Given the description of an element on the screen output the (x, y) to click on. 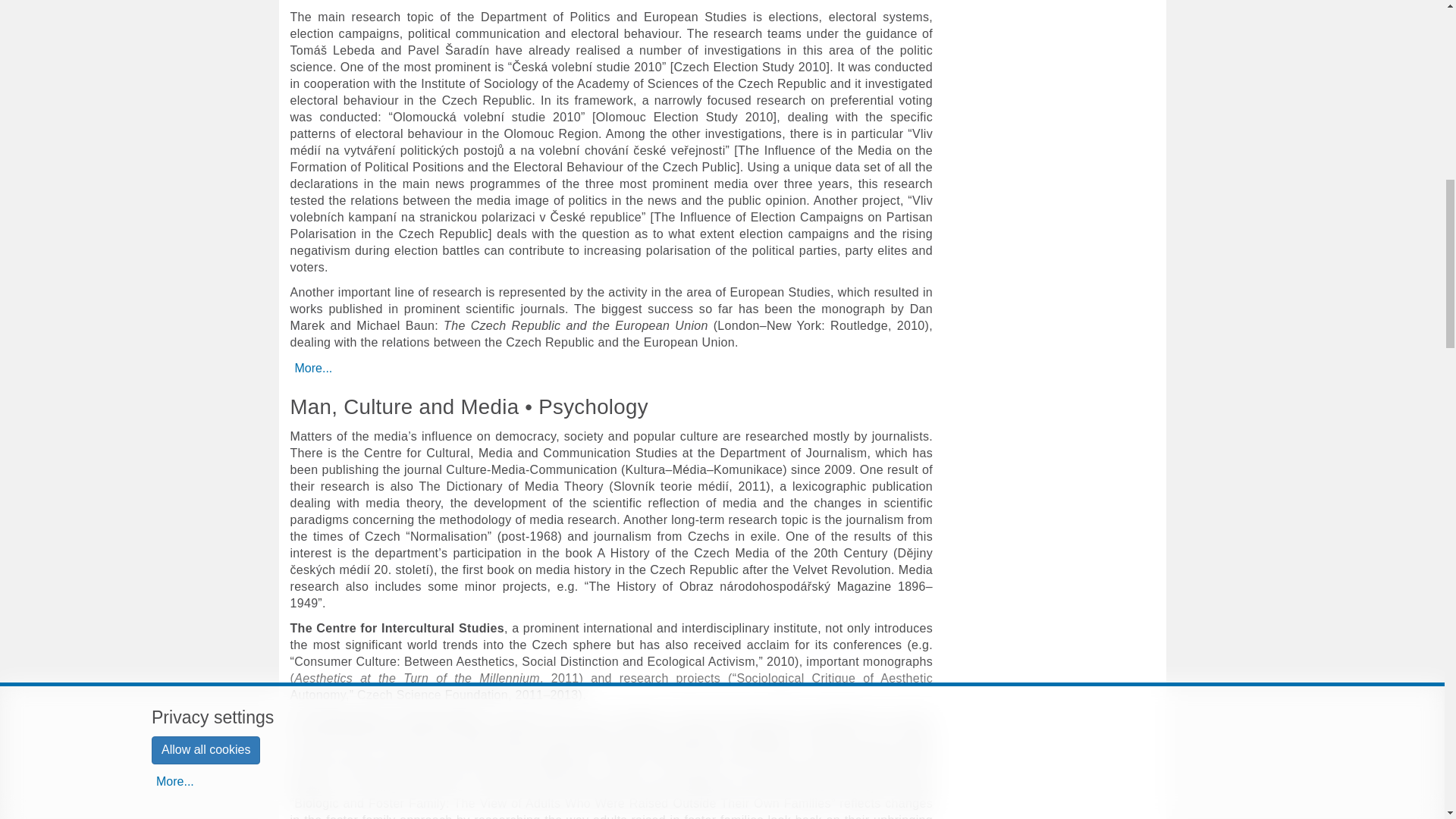
More... (312, 368)
